Given the description of an element on the screen output the (x, y) to click on. 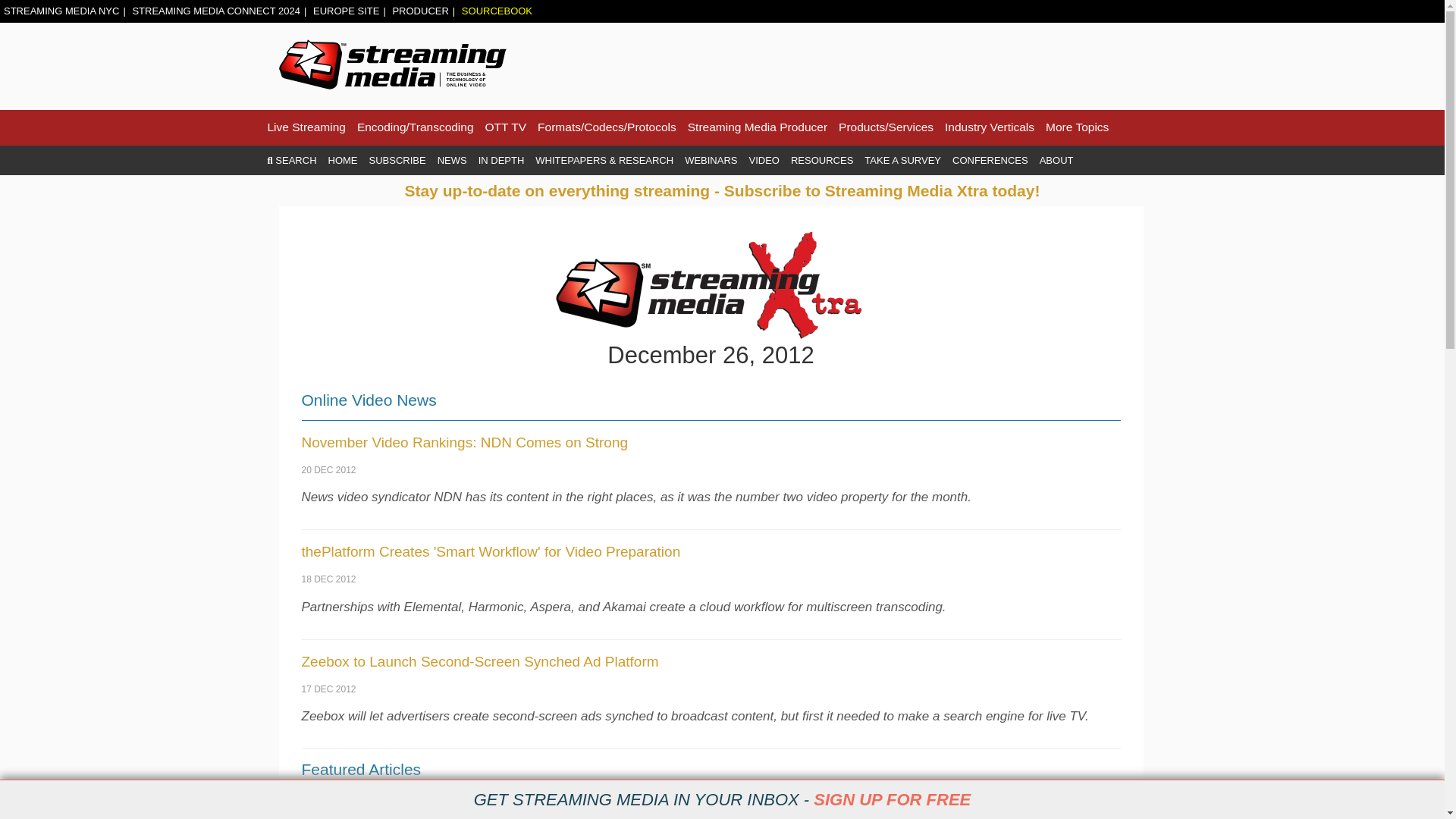
SOURCEBOOK (496, 10)
STREAMING MEDIA CONNECT 2024 (215, 10)
HOME (343, 160)
 SEARCH (290, 160)
Live Streaming (305, 127)
Streaming Media Producer (757, 127)
Streaming Media Connect 2024 (215, 10)
NEWS (452, 160)
More Topics (1076, 127)
Industry Verticals (988, 127)
